Given the description of an element on the screen output the (x, y) to click on. 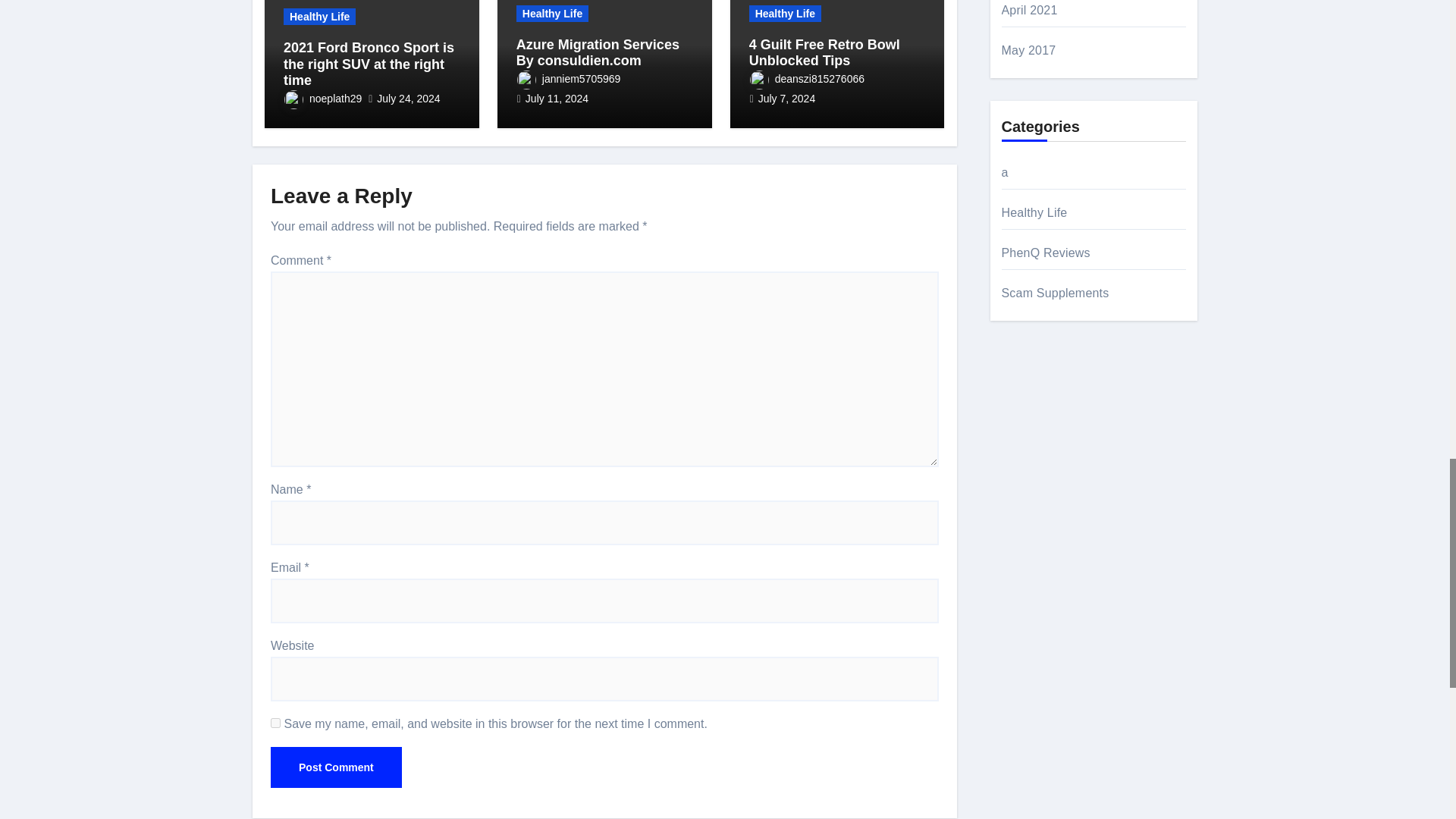
yes (275, 723)
Post Comment (335, 766)
Permalink to: 4 Guilt Free Retro Bowl Unblocked Tips (824, 52)
Permalink to: Azure Migration Services By consuldien.com (597, 52)
